Given the description of an element on the screen output the (x, y) to click on. 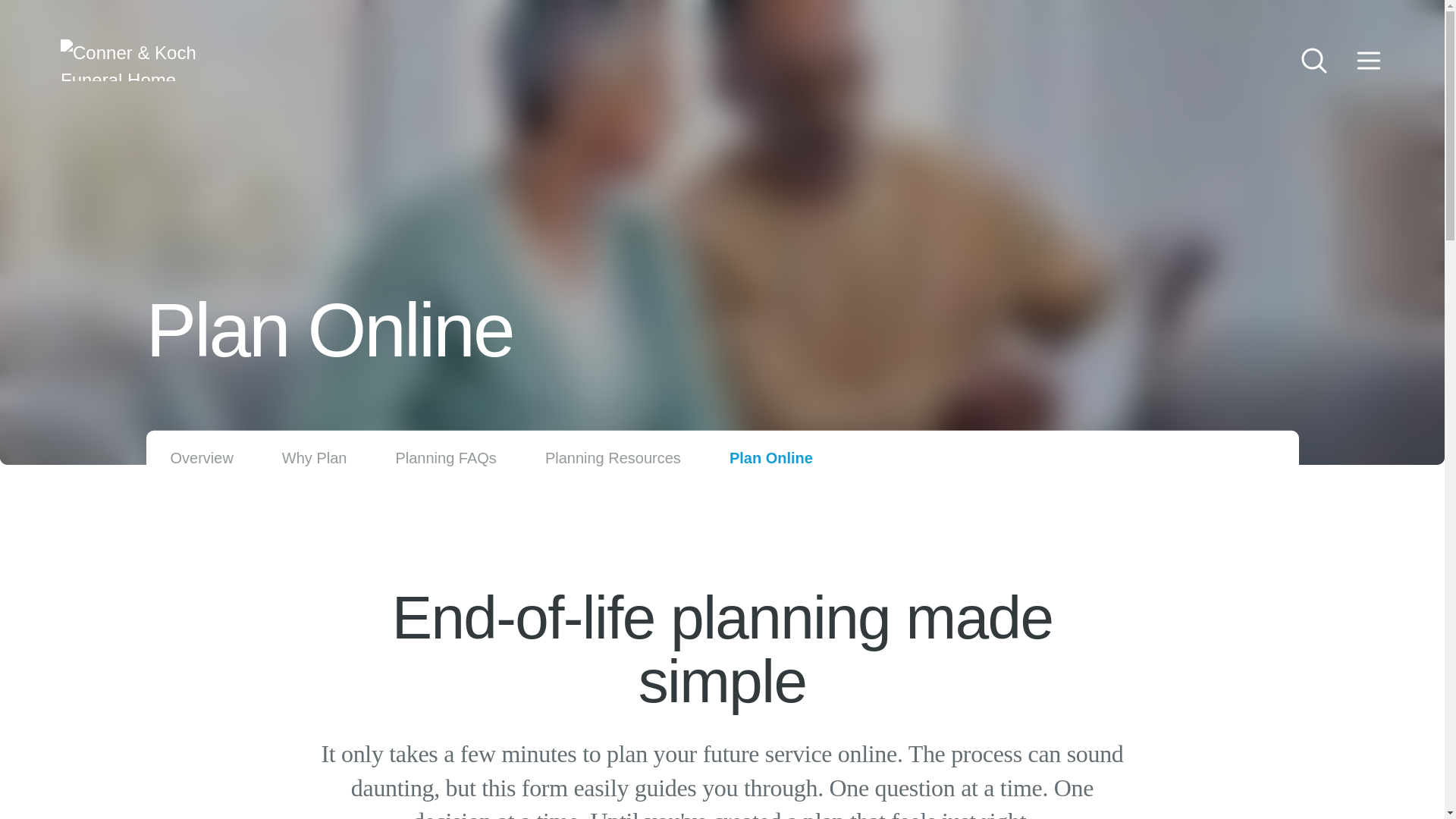
Why Plan (314, 458)
Planning Resources (612, 458)
Overview (201, 458)
Plan Online (770, 458)
Skip to content (30, 15)
Planning FAQs (445, 458)
